Given the description of an element on the screen output the (x, y) to click on. 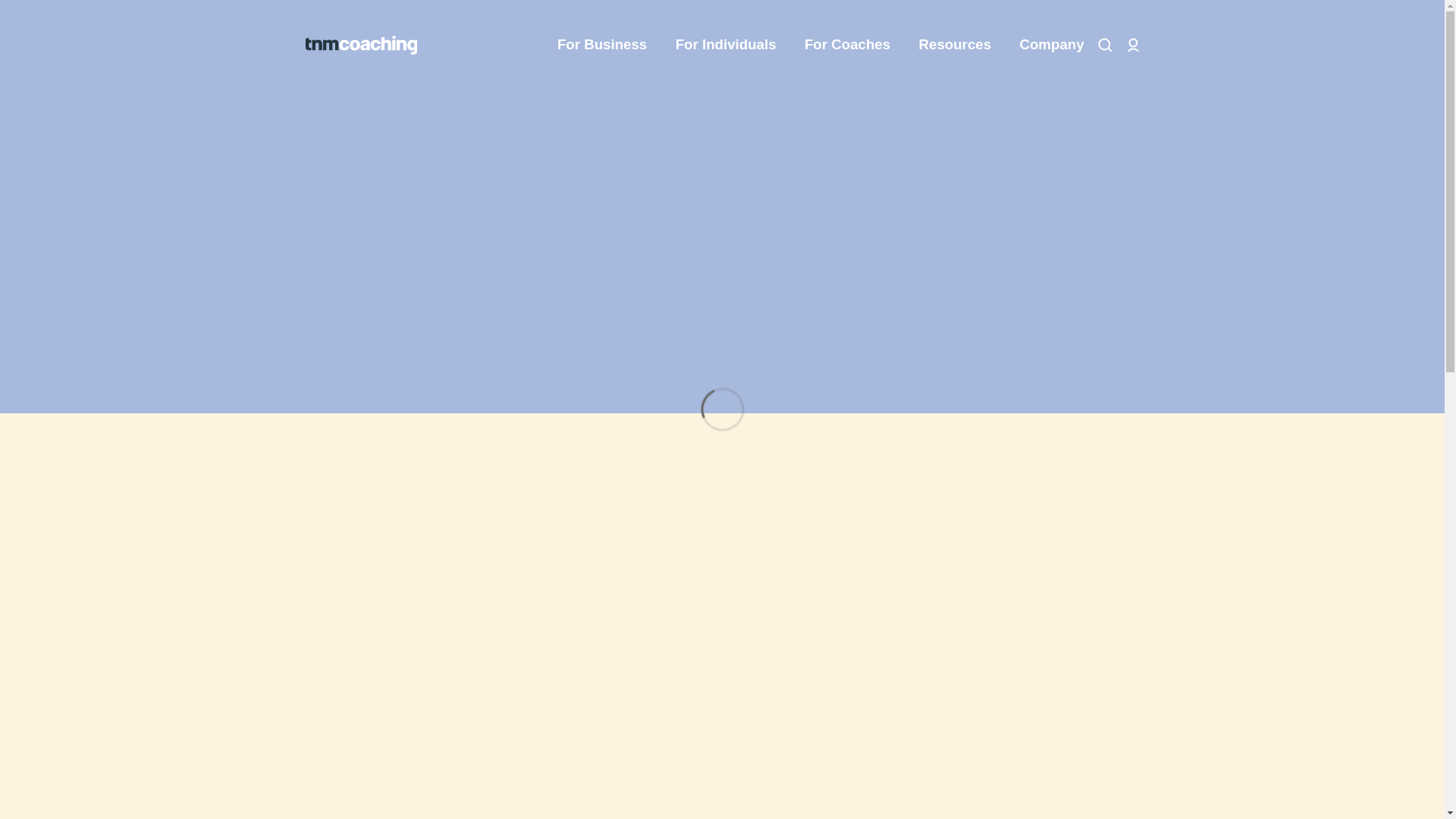
Account (1133, 44)
Search (1104, 44)
For Individuals (732, 44)
Resources (962, 44)
For Coaches (854, 44)
Company (1051, 44)
For Business (609, 44)
